Given the description of an element on the screen output the (x, y) to click on. 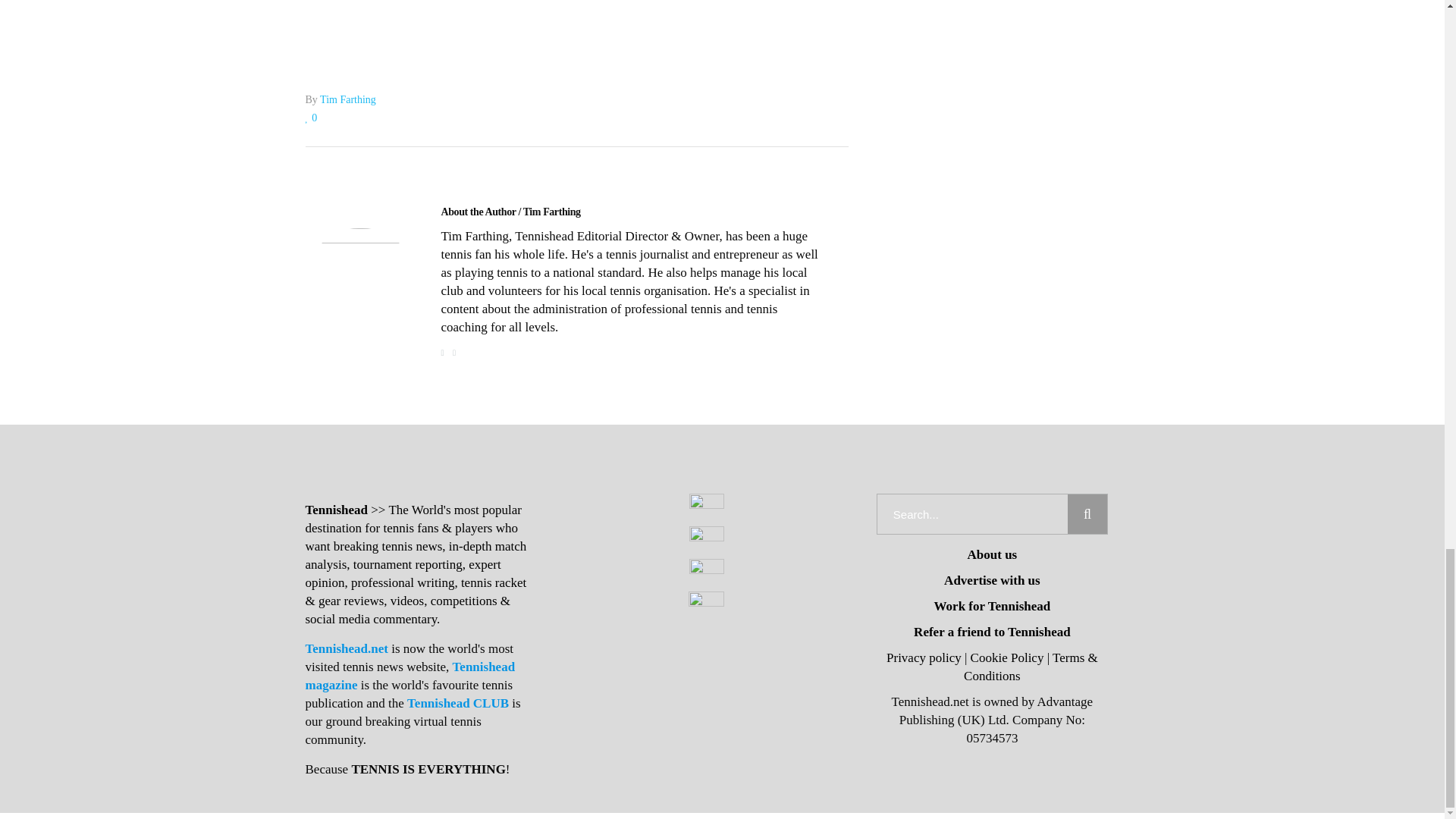
Like this (310, 117)
Search for: (972, 513)
TNNS Live Scores (576, 12)
